Given the description of an element on the screen output the (x, y) to click on. 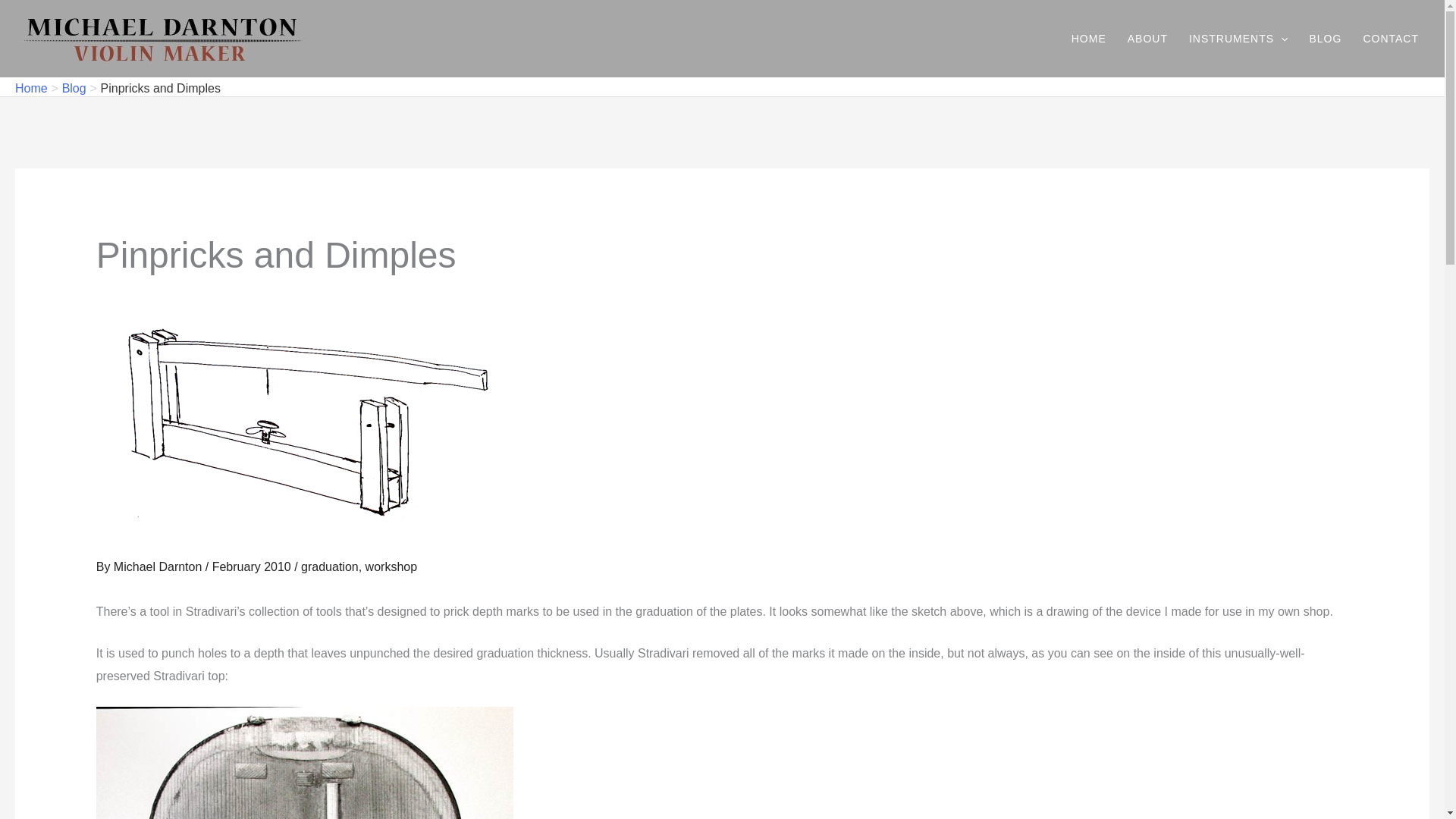
Home (31, 88)
ABOUT (1146, 38)
CONTACT (1390, 38)
workshop (390, 566)
graduation (329, 566)
Michael Darnton (159, 566)
INSTRUMENTS (1237, 38)
View all posts by Michael Darnton (159, 566)
Blog (73, 88)
HOME (1088, 38)
